Given the description of an element on the screen output the (x, y) to click on. 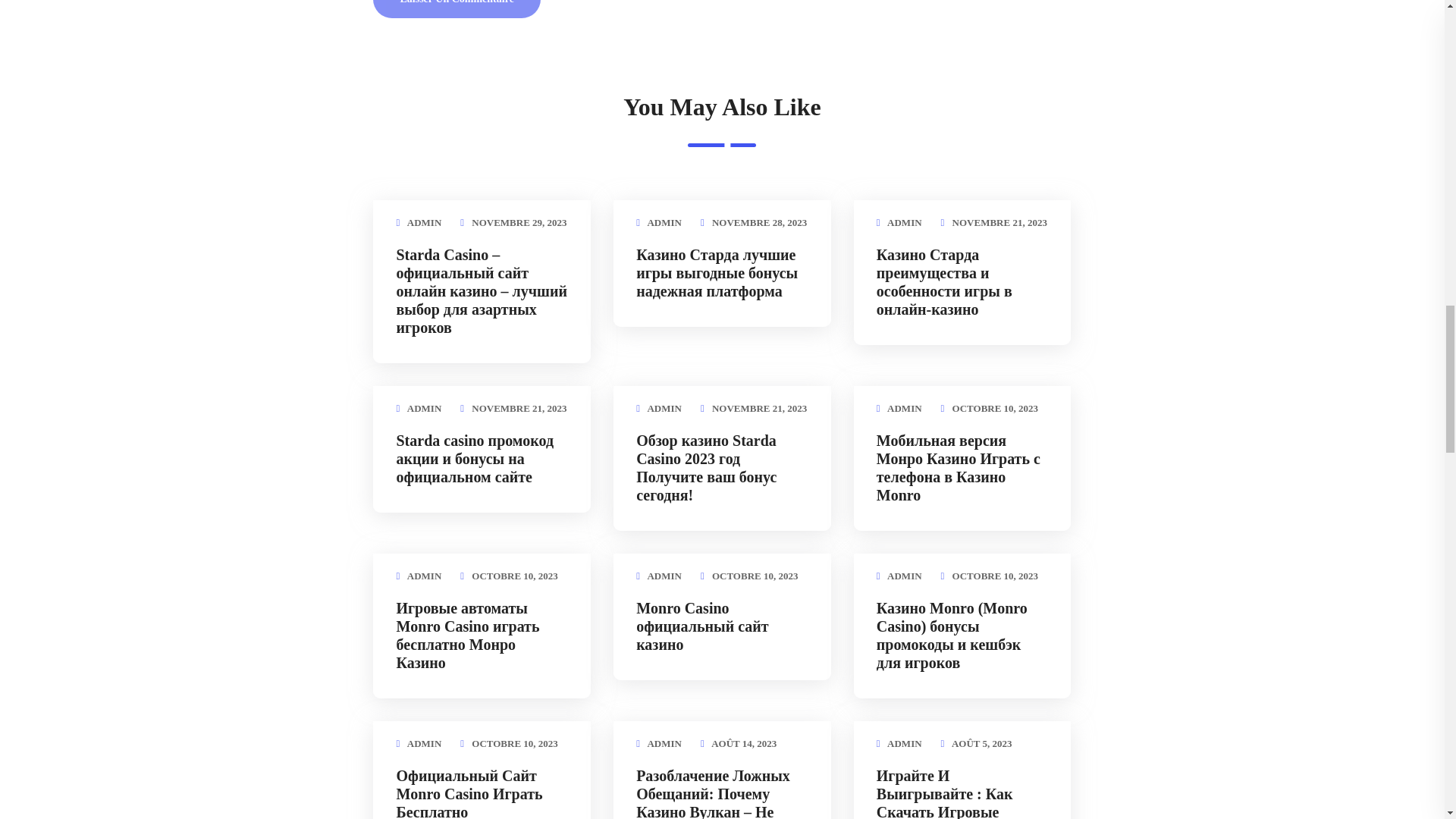
Laisser un commentaire (456, 9)
ADMIN (663, 222)
ADMIN (424, 222)
NOVEMBRE 21, 2023 (518, 408)
ADMIN (424, 408)
NOVEMBRE 21, 2023 (999, 222)
ADMIN (903, 222)
NOVEMBRE 28, 2023 (758, 222)
Laisser un commentaire (456, 9)
NOVEMBRE 29, 2023 (518, 222)
